Given the description of an element on the screen output the (x, y) to click on. 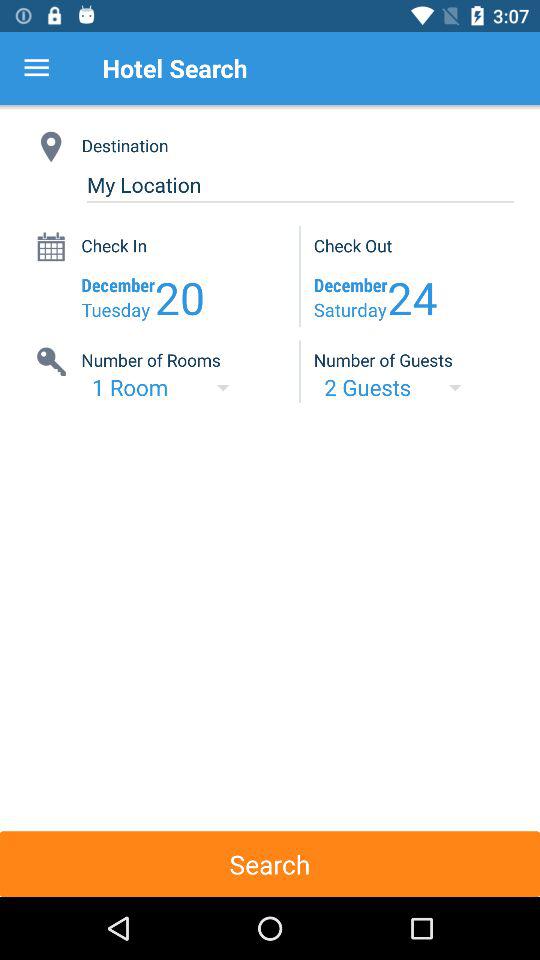
tap item next to hotel search item (36, 68)
